Given the description of an element on the screen output the (x, y) to click on. 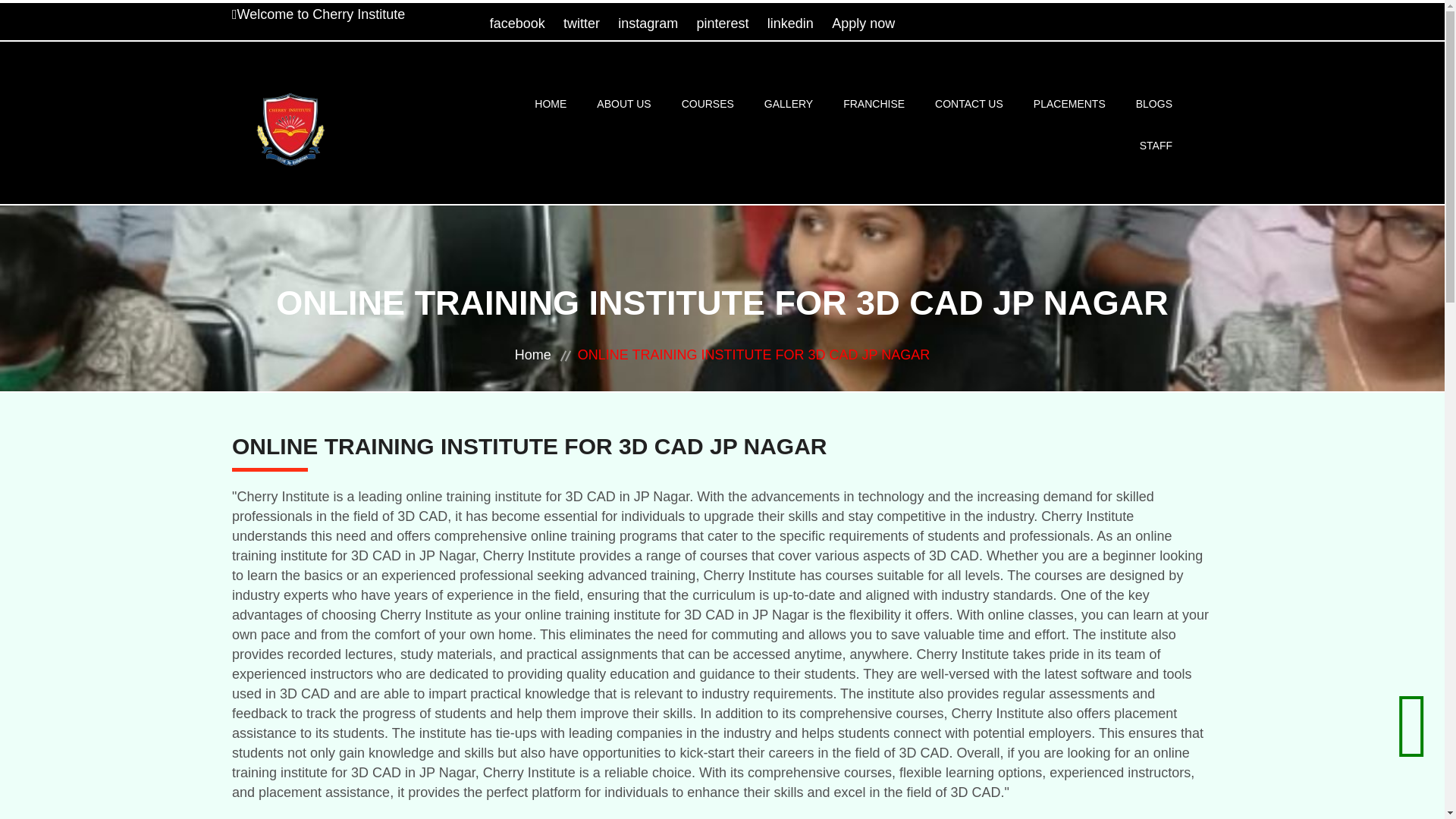
logo (288, 123)
twitter (581, 23)
about (623, 104)
ABOUT US (623, 104)
instagram (647, 23)
facebook (516, 23)
linkedin (790, 23)
facebook (516, 23)
instagram (647, 23)
twitter (581, 23)
